Given the description of an element on the screen output the (x, y) to click on. 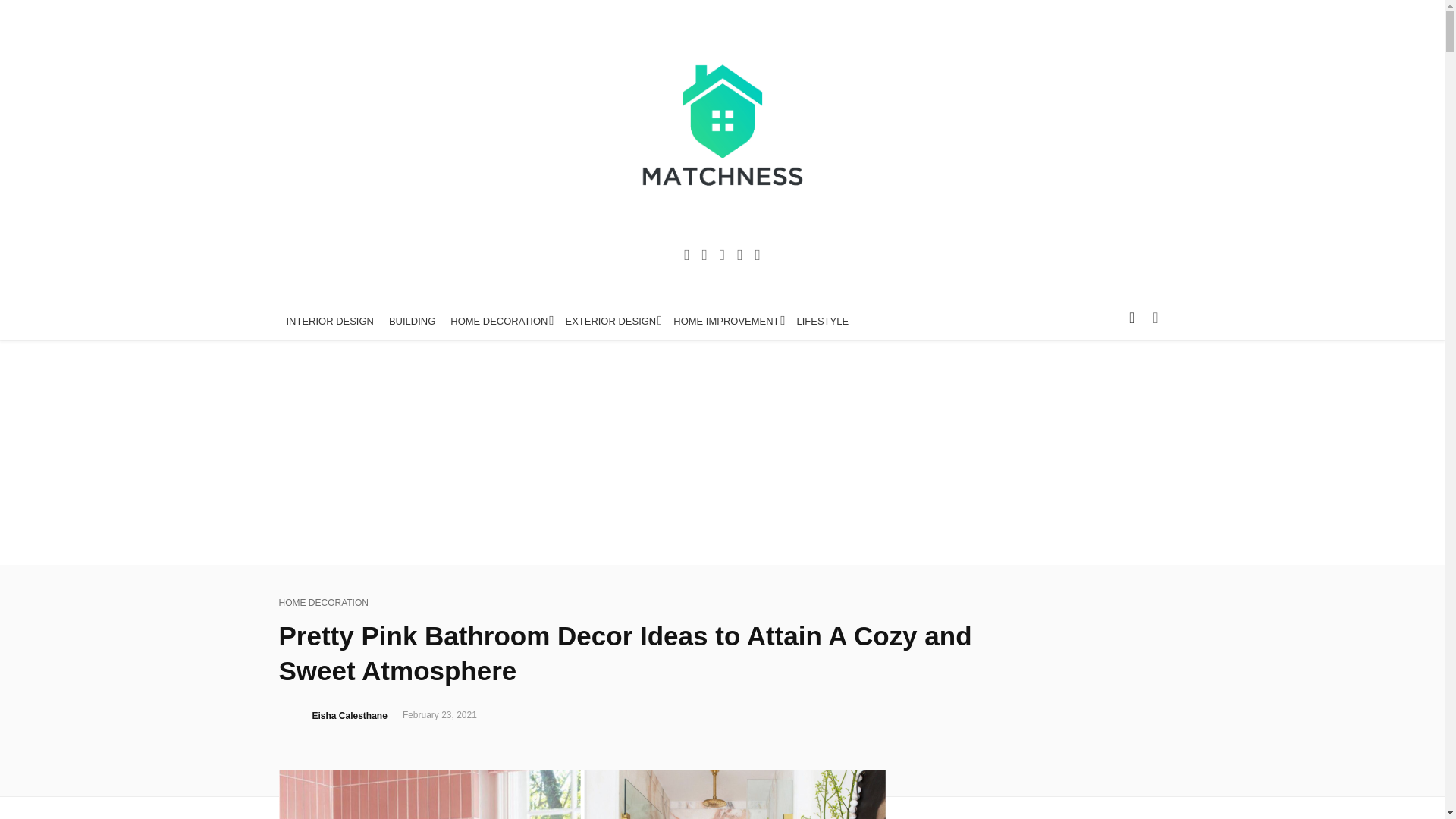
HOME DECORATION (323, 603)
Eisha Calesthane (350, 715)
HOME IMPROVEMENT (727, 320)
HOME DECORATION (499, 320)
LIFESTYLE (823, 320)
February 23, 2021 at 9:26 am (440, 715)
BUILDING (411, 320)
INTERIOR DESIGN (330, 320)
EXTERIOR DESIGN (611, 320)
